Given the description of an element on the screen output the (x, y) to click on. 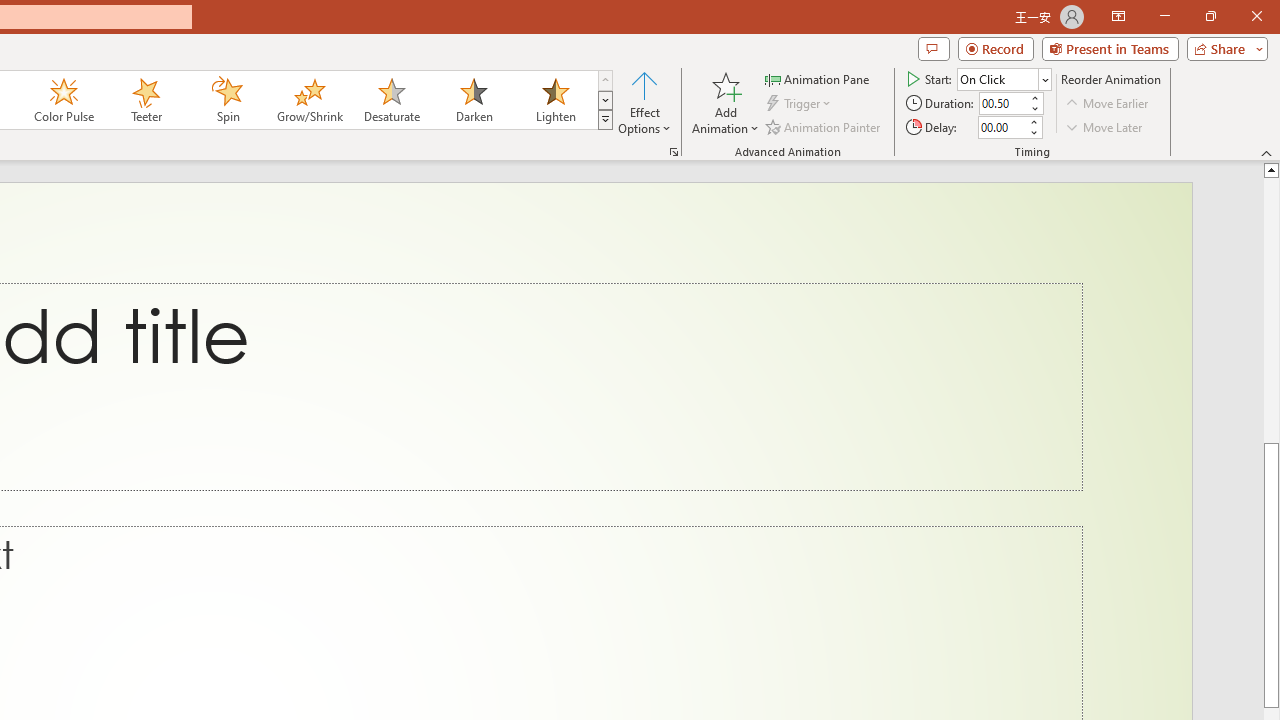
More Options... (673, 151)
Color Pulse (63, 100)
